Given the description of an element on the screen output the (x, y) to click on. 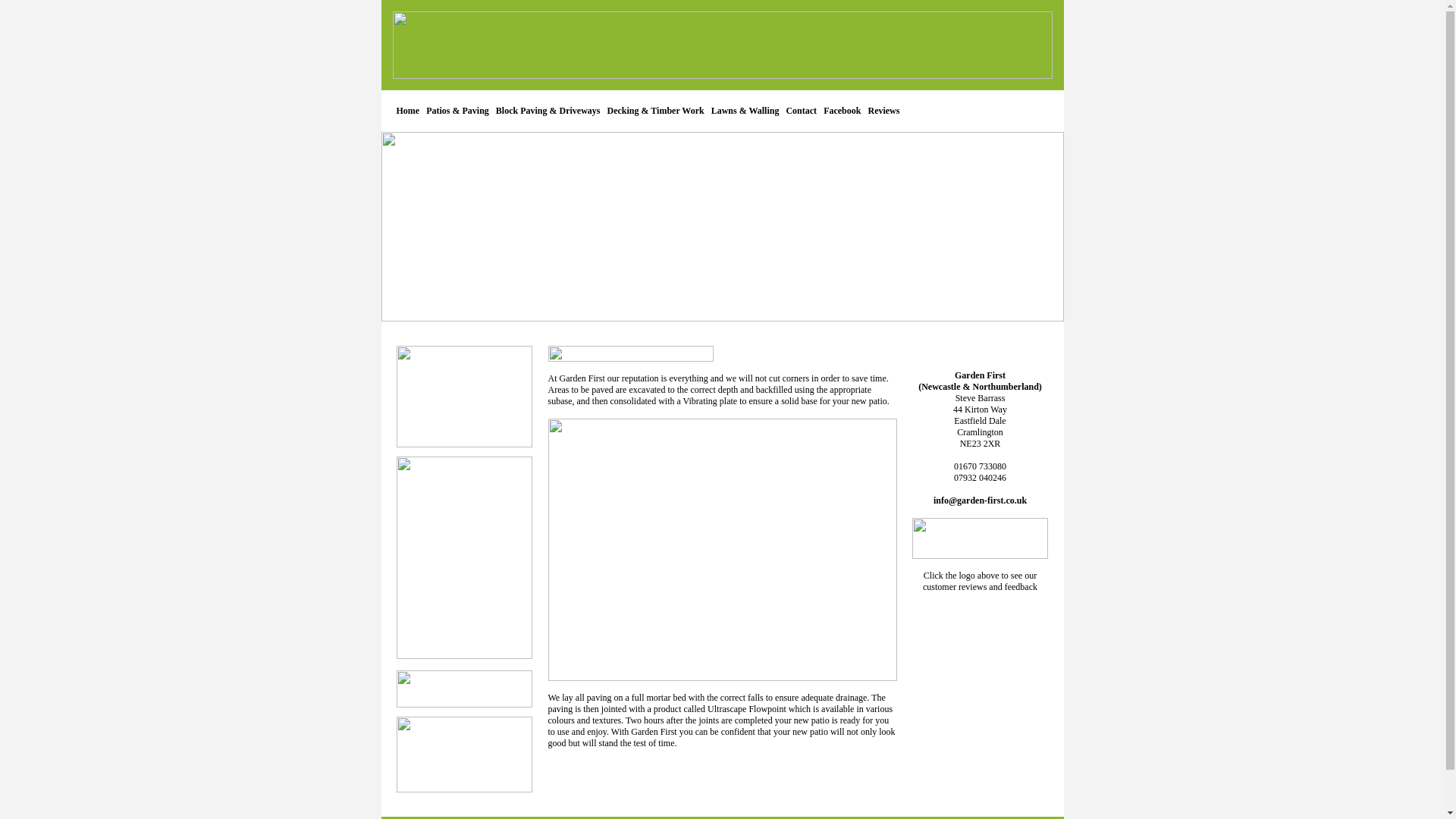
Contact (801, 110)
Home (407, 110)
Facebook (842, 110)
Reviews (883, 110)
